Given the description of an element on the screen output the (x, y) to click on. 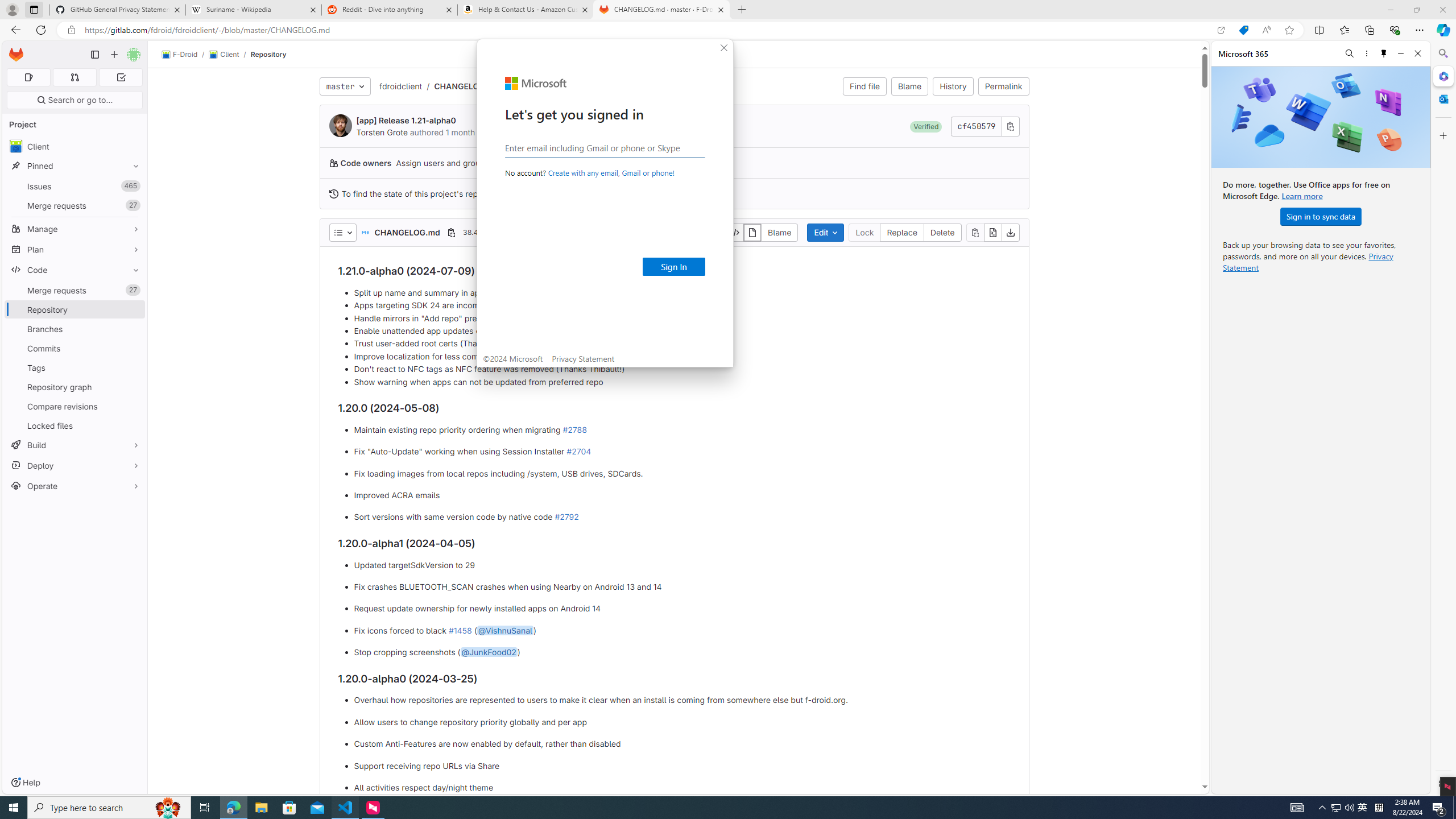
Terminal 5 Python (1422, 567)
remote (9, 789)
Editor actions (1425, 29)
Hide Panel (1442, 539)
Manage (13, 769)
Search (Ctrl+Shift+F) (13, 60)
Close (Escape) (1362, 60)
Selection (80, 9)
Next Match (Enter) (1333, 60)
Run (153, 9)
Split Editor Right (Ctrl+\) [Alt] Split Editor Down (1428, 29)
